Given the description of an element on the screen output the (x, y) to click on. 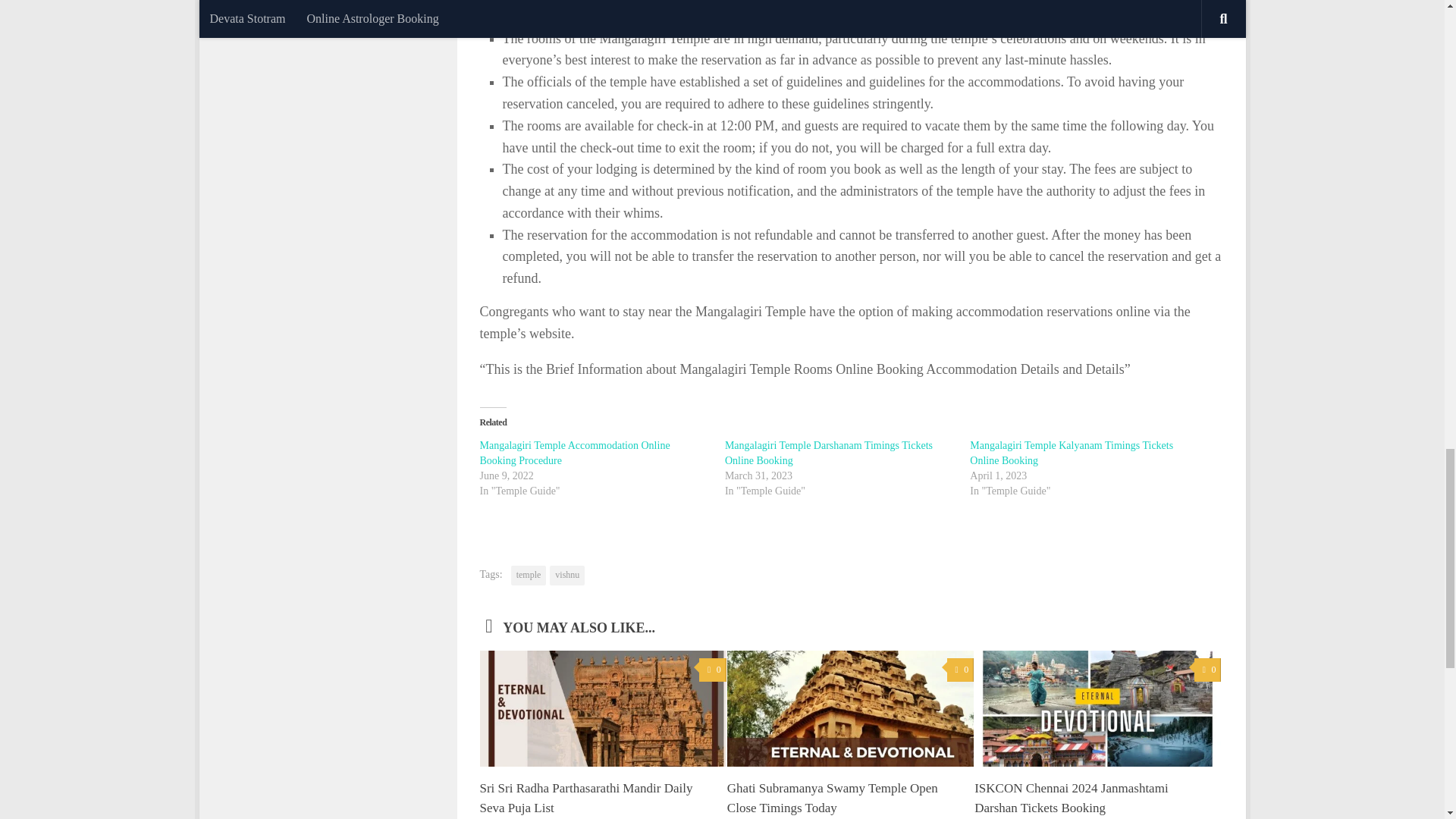
temple (529, 575)
ISKCON Chennai 2024 Janmashtami Darshan Tickets Booking (1070, 797)
vishnu (567, 575)
0 (1207, 669)
0 (960, 669)
Sri Sri Radha Parthasarathi Mandir Daily Seva Puja List (586, 797)
Mangalagiri Temple Darshanam Timings Tickets Online Booking (829, 452)
Mangalagiri Temple Accommodation Online Booking Procedure (574, 452)
Ghati Subramanya Swamy Temple Open Close Timings Today (831, 797)
0 (711, 669)
